Given the description of an element on the screen output the (x, y) to click on. 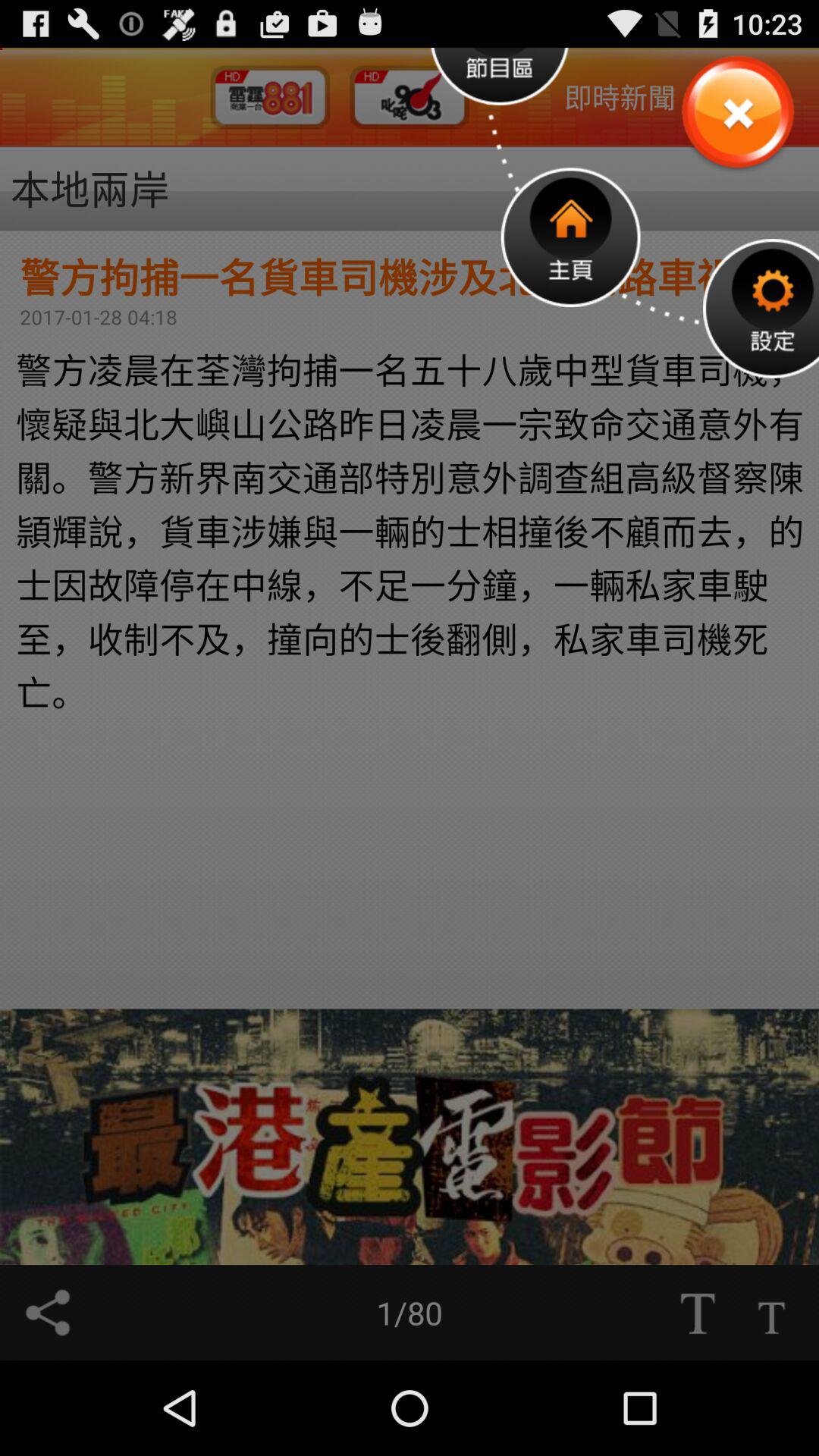
go to share (47, 1312)
